Given the description of an element on the screen output the (x, y) to click on. 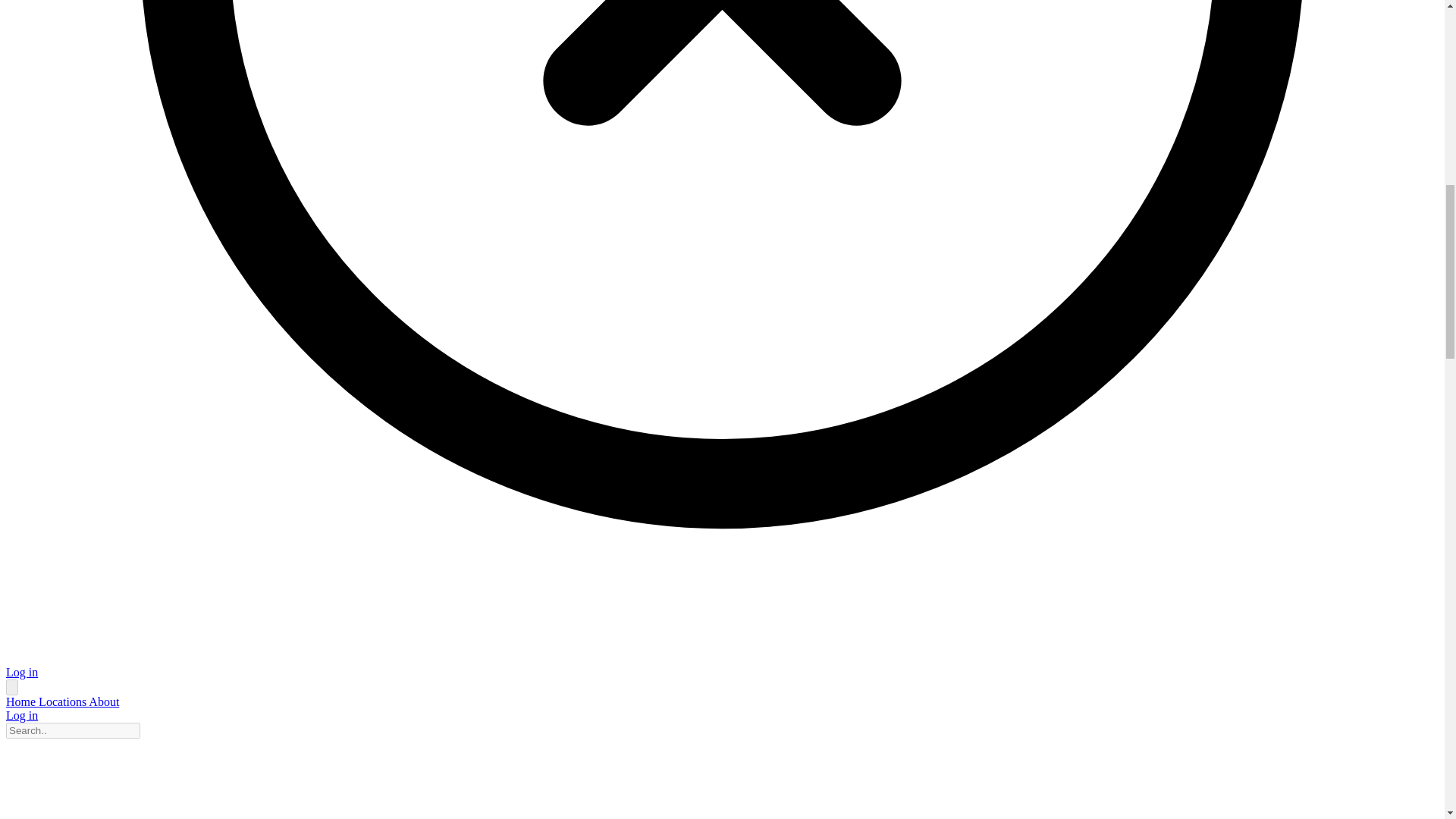
Locations (63, 701)
Log in (21, 671)
Log in (21, 715)
Home (22, 701)
About (103, 701)
